Given the description of an element on the screen output the (x, y) to click on. 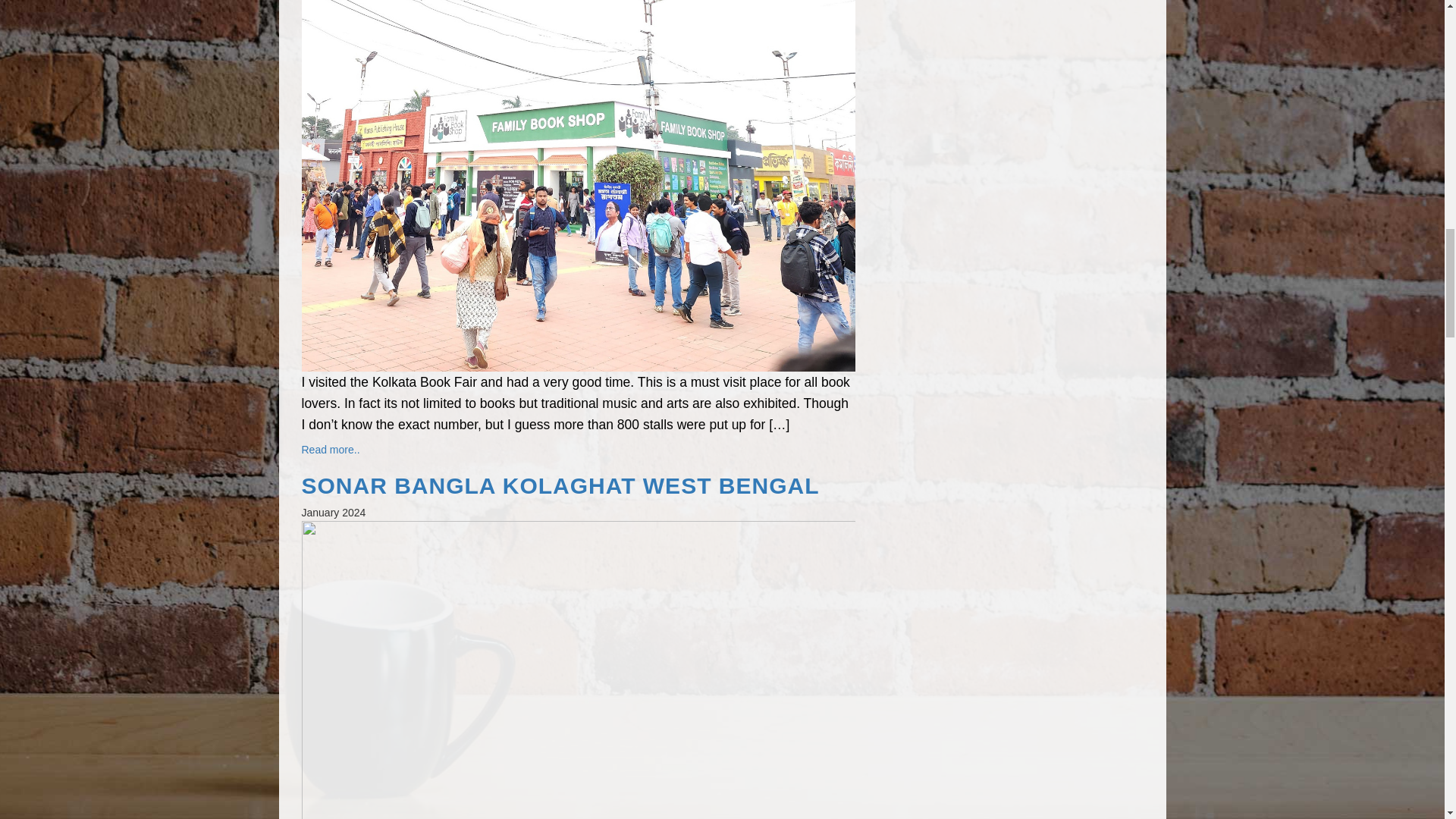
Read more.. (330, 449)
SONAR BANGLA KOLAGHAT WEST BENGAL (578, 485)
